Given the description of an element on the screen output the (x, y) to click on. 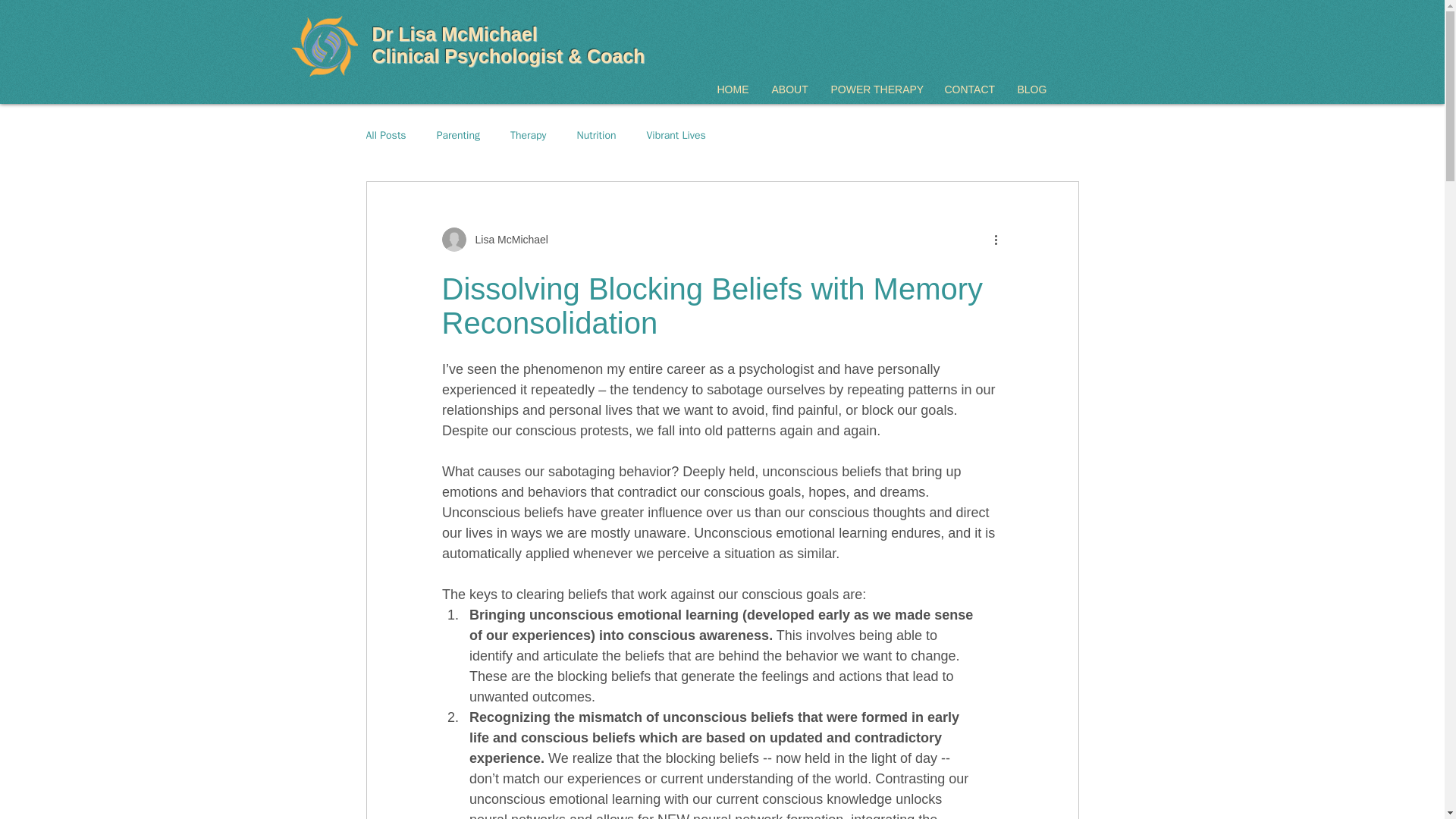
Dr Lisa McMichael  (456, 34)
POWER THERAPY (875, 88)
CONTACT (969, 88)
HOME (732, 88)
Vibrant Lives (675, 135)
Therapy (529, 135)
BLOG (1032, 88)
Nutrition (595, 135)
Parenting (458, 135)
Lisa McMichael (506, 239)
All Posts (385, 135)
